Given the description of an element on the screen output the (x, y) to click on. 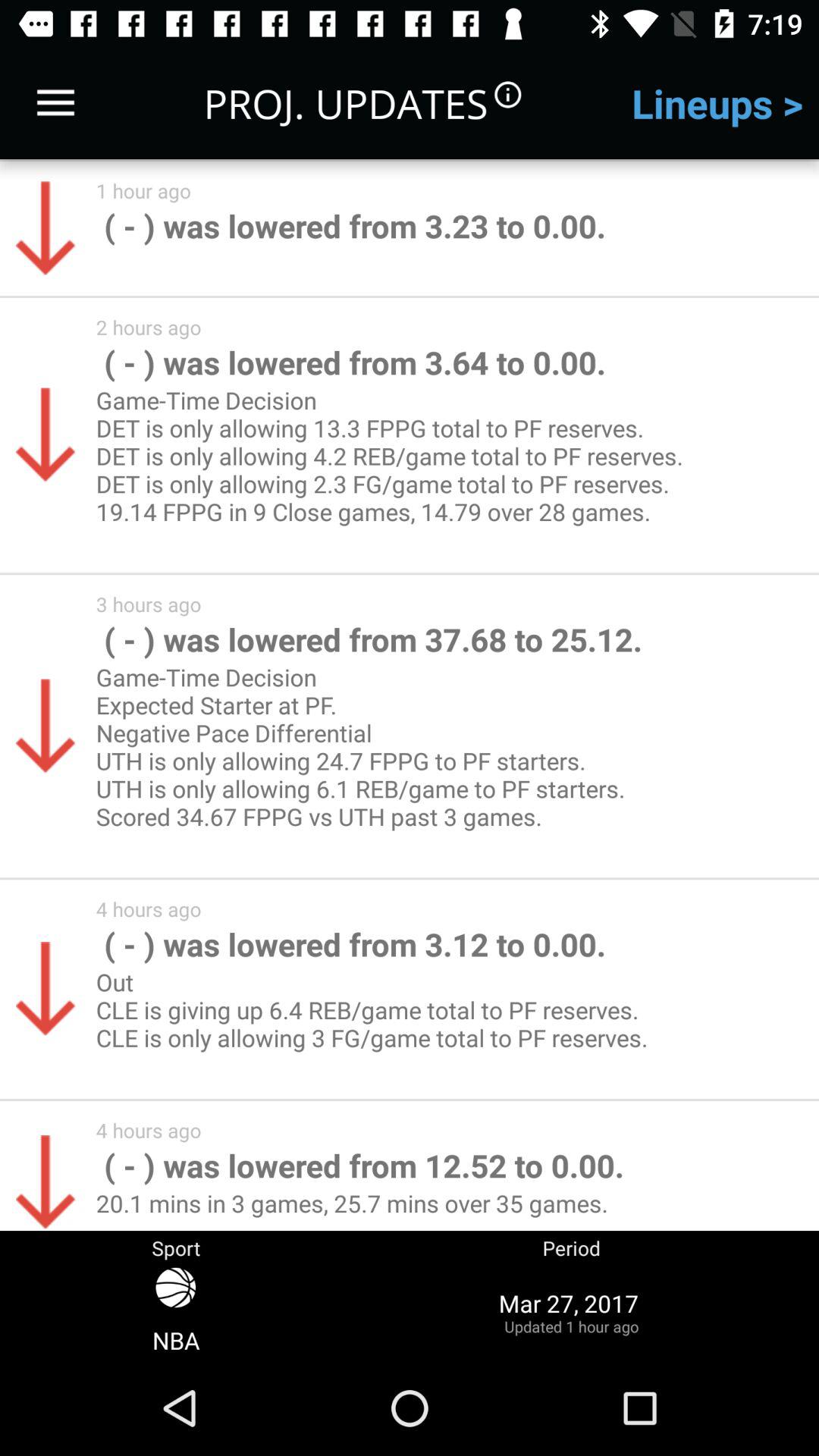
choose item below sport icon (571, 1311)
